Given the description of an element on the screen output the (x, y) to click on. 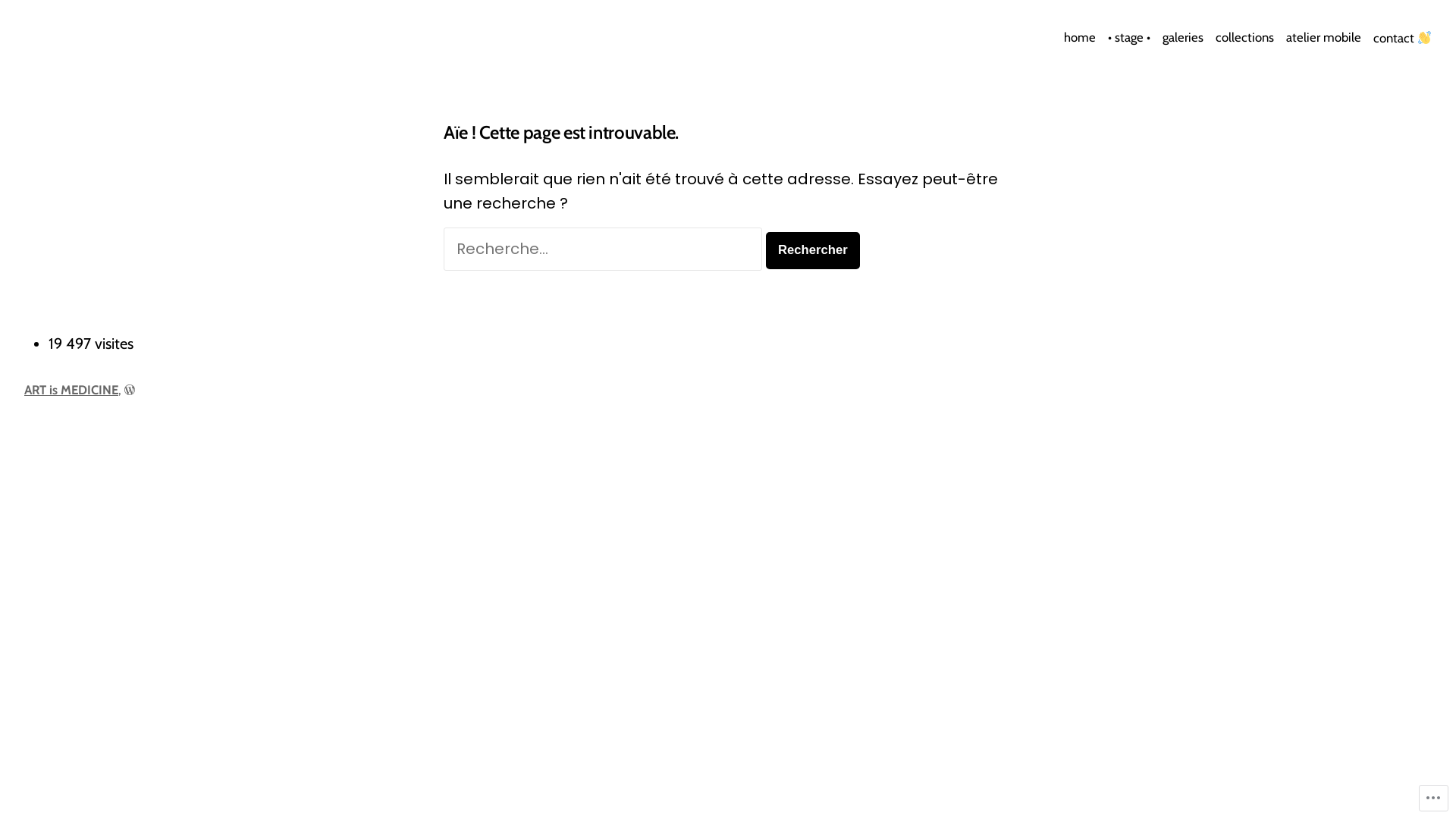
galeries Element type: text (1182, 37)
contact Element type: text (1399, 37)
ART is MEDICINE Element type: text (105, 46)
Rechercher Element type: text (812, 250)
atelier mobile Element type: text (1323, 37)
ART is MEDICINE Element type: text (71, 389)
home Element type: text (1082, 37)
collections Element type: text (1244, 37)
